Given the description of an element on the screen output the (x, y) to click on. 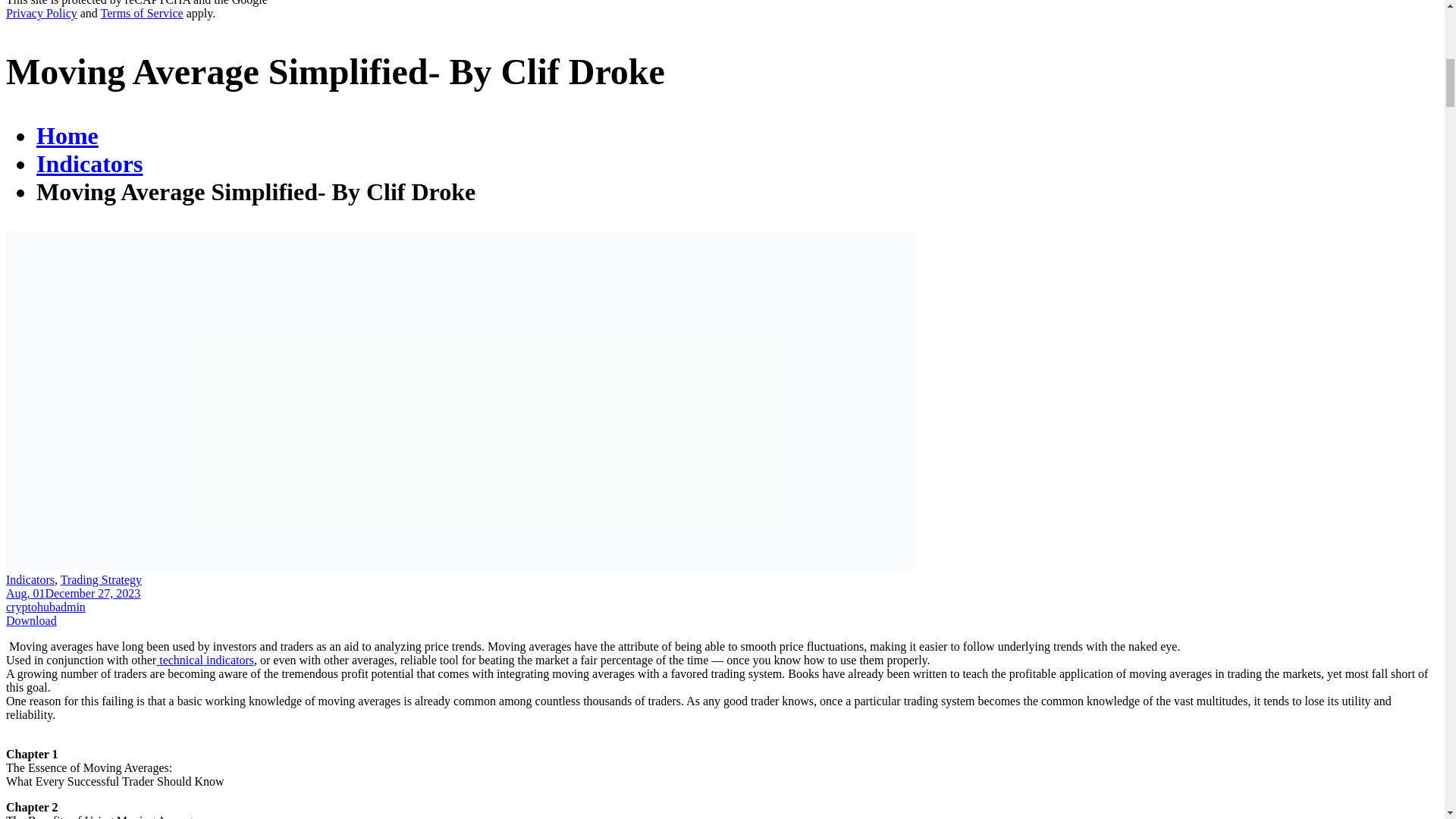
Trading Strategy (101, 579)
Indicators (30, 579)
Aug, 01December 27, 2023 (72, 593)
Home (67, 135)
Privacy Policy (41, 12)
cryptohubadmin (45, 606)
technical indicators (204, 659)
Terms of Service (141, 12)
Indicators (89, 163)
Download (30, 620)
